Given the description of an element on the screen output the (x, y) to click on. 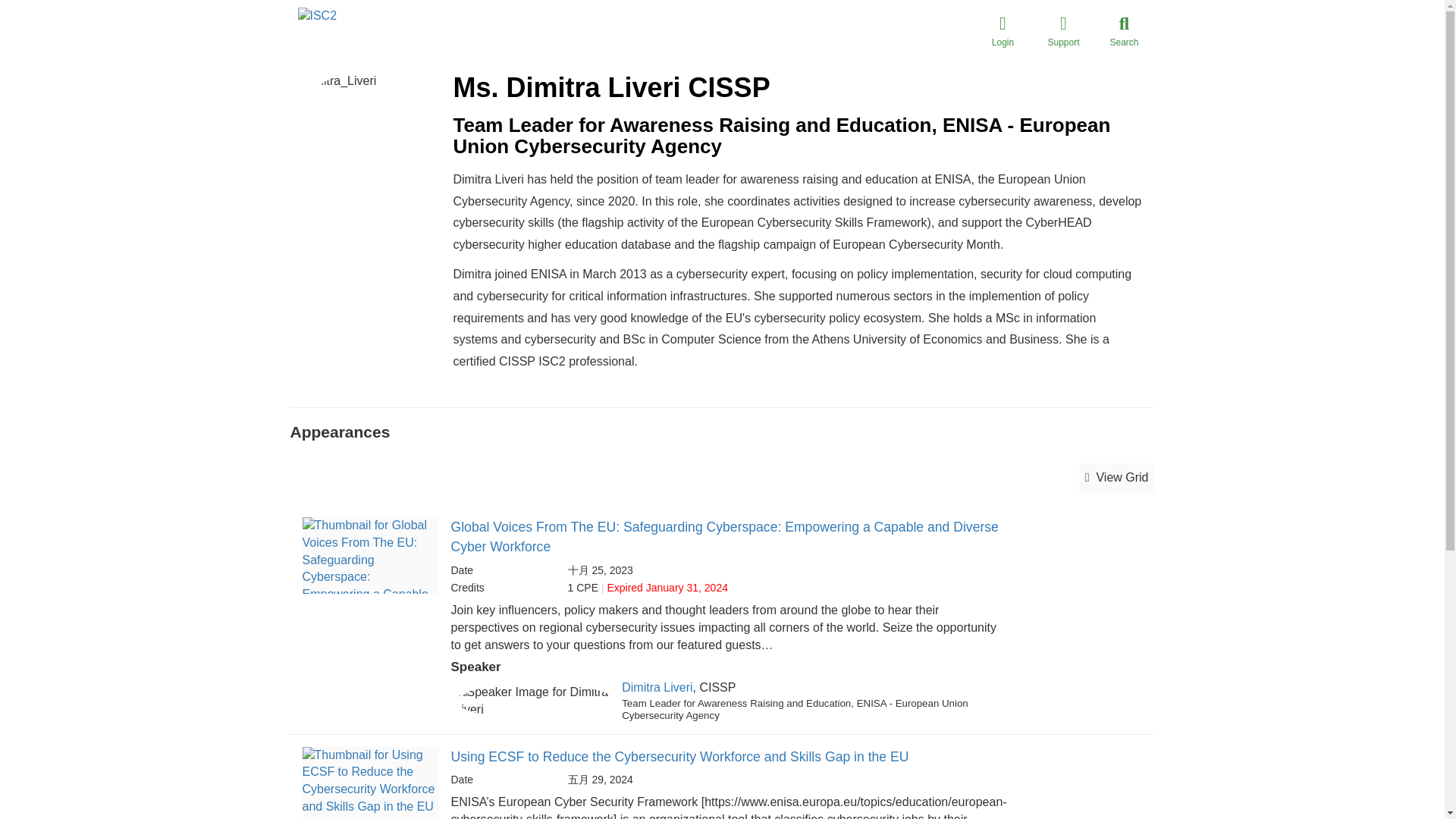
  View Grid (1116, 478)
Support (1062, 30)
Search (1123, 30)
Login (1002, 30)
Search (1123, 30)
Login (1002, 30)
Dimitra Liveri (657, 686)
Speaker Image for Dimitra Liveri (534, 701)
Support (1062, 30)
